Given the description of an element on the screen output the (x, y) to click on. 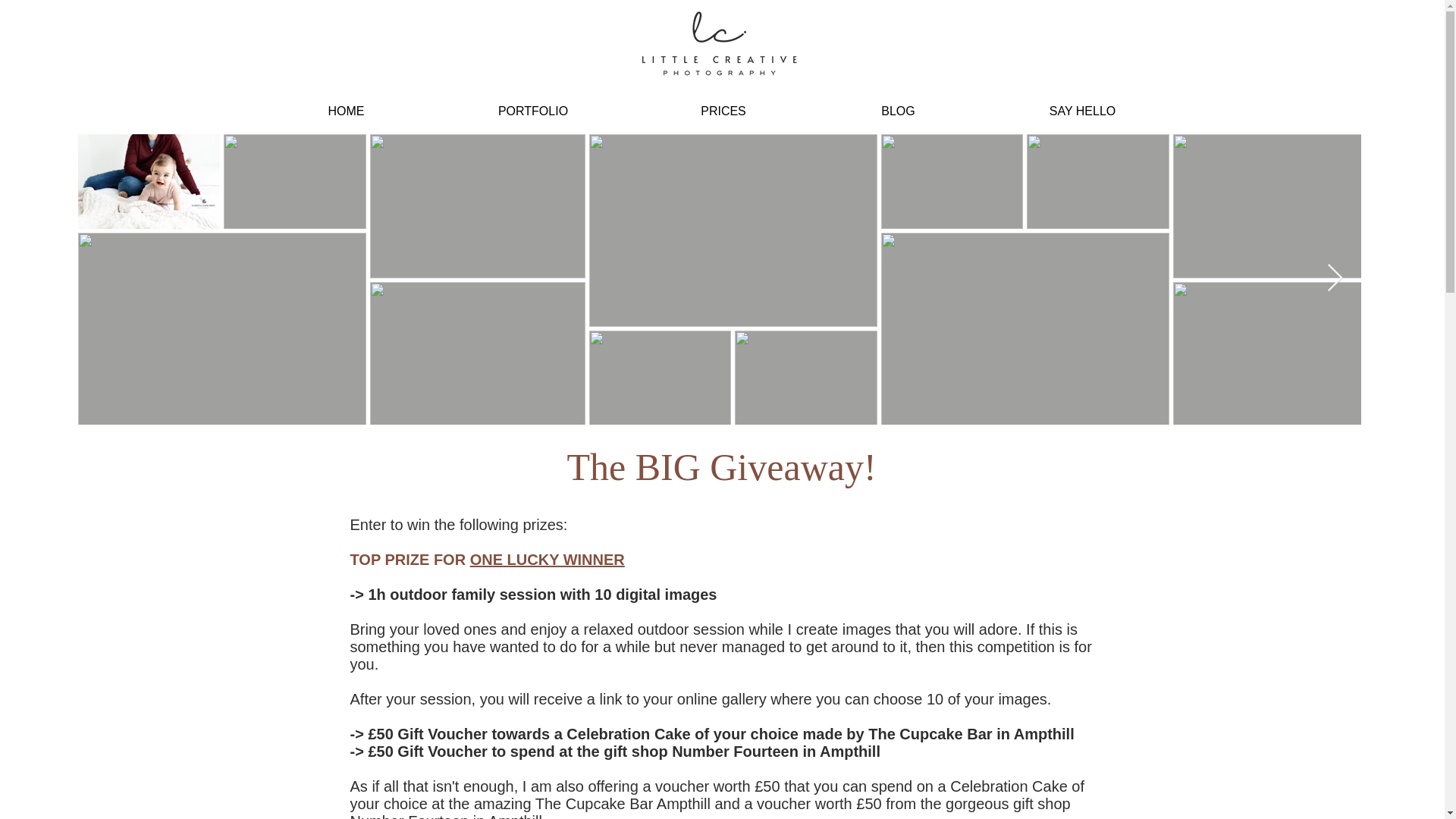
HOME (345, 110)
BLOG (897, 110)
PORTFOLIO (532, 110)
SAY HELLO (1081, 110)
PRICES (723, 110)
